Given the description of an element on the screen output the (x, y) to click on. 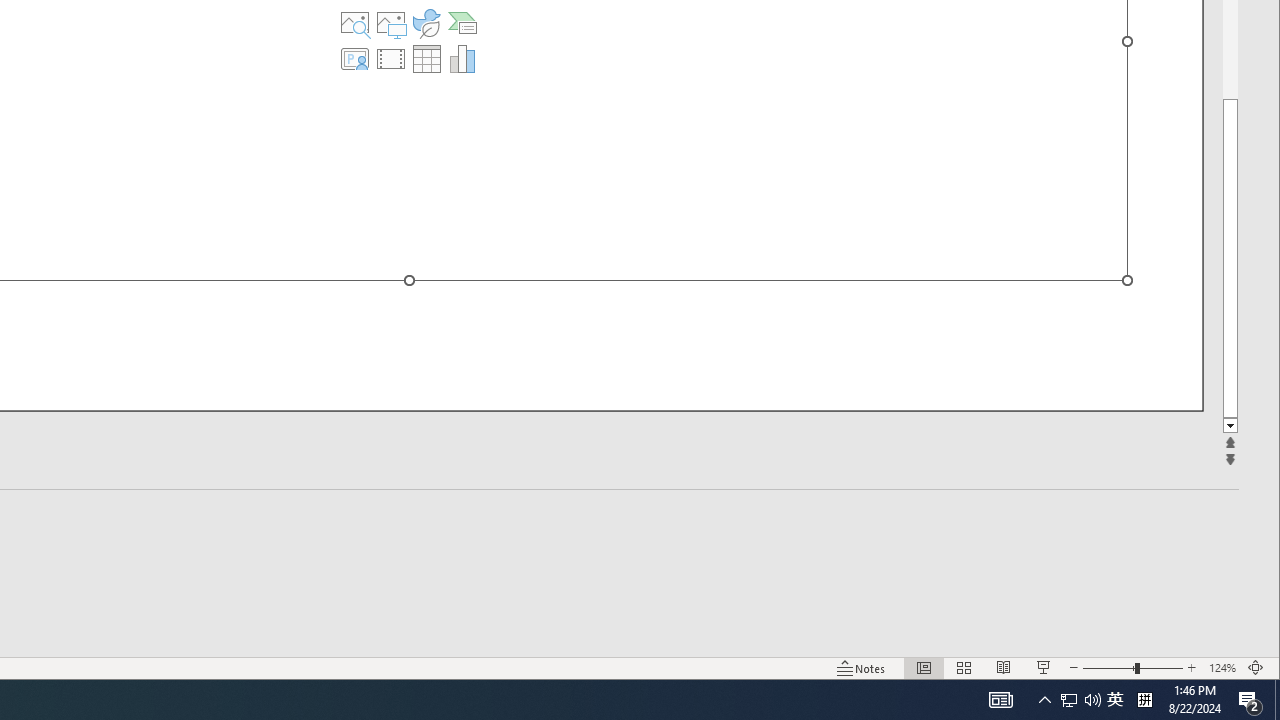
Insert Video (391, 58)
Insert Cameo (355, 58)
Insert Table (426, 58)
Insert Chart (462, 58)
Pictures (391, 22)
